Given the description of an element on the screen output the (x, y) to click on. 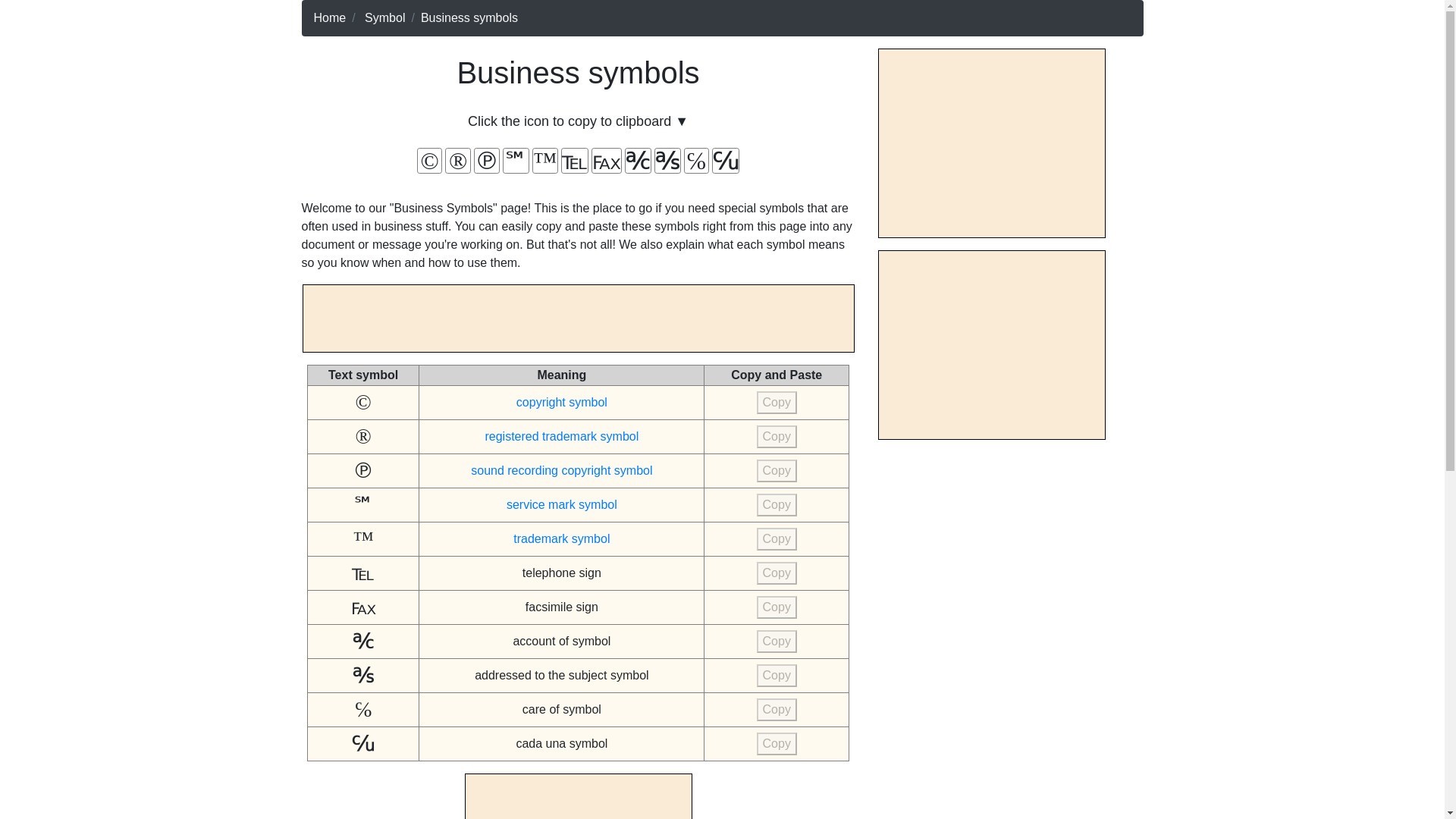
Home (330, 17)
registered trademark symbol (561, 436)
Copy (776, 640)
service mark symbol (561, 504)
Copy (776, 436)
copyright symbol (561, 401)
Copy (776, 470)
Copy (776, 709)
Copy (776, 504)
trademark symbol (561, 538)
Copy (776, 675)
sound recording copyright symbol (561, 470)
Copy (776, 402)
Copy (776, 607)
Copy (776, 572)
